Given the description of an element on the screen output the (x, y) to click on. 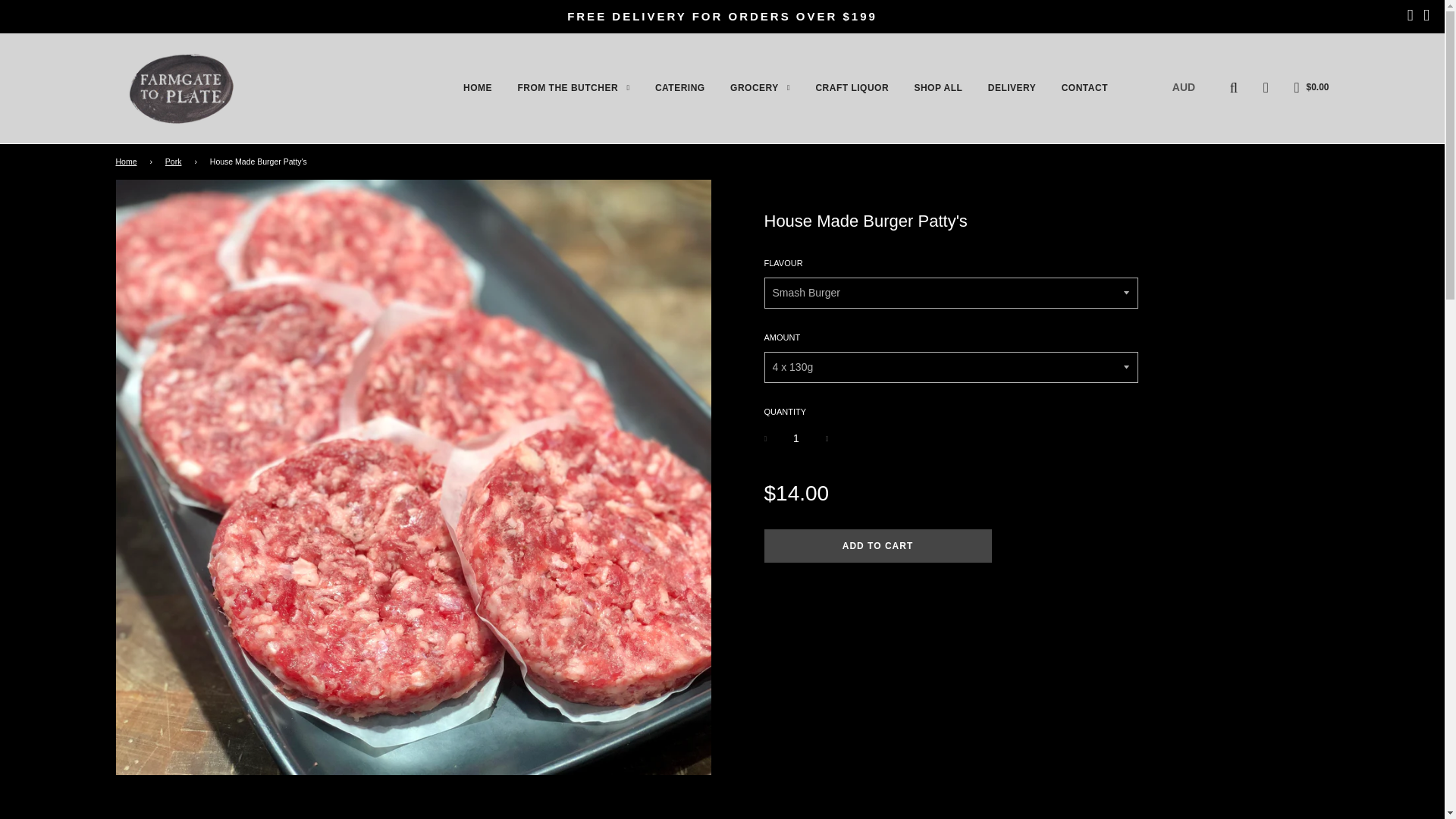
1 (796, 437)
Back to the frontpage (128, 161)
HOME (477, 88)
FROM THE BUTCHER (572, 88)
